Given the description of an element on the screen output the (x, y) to click on. 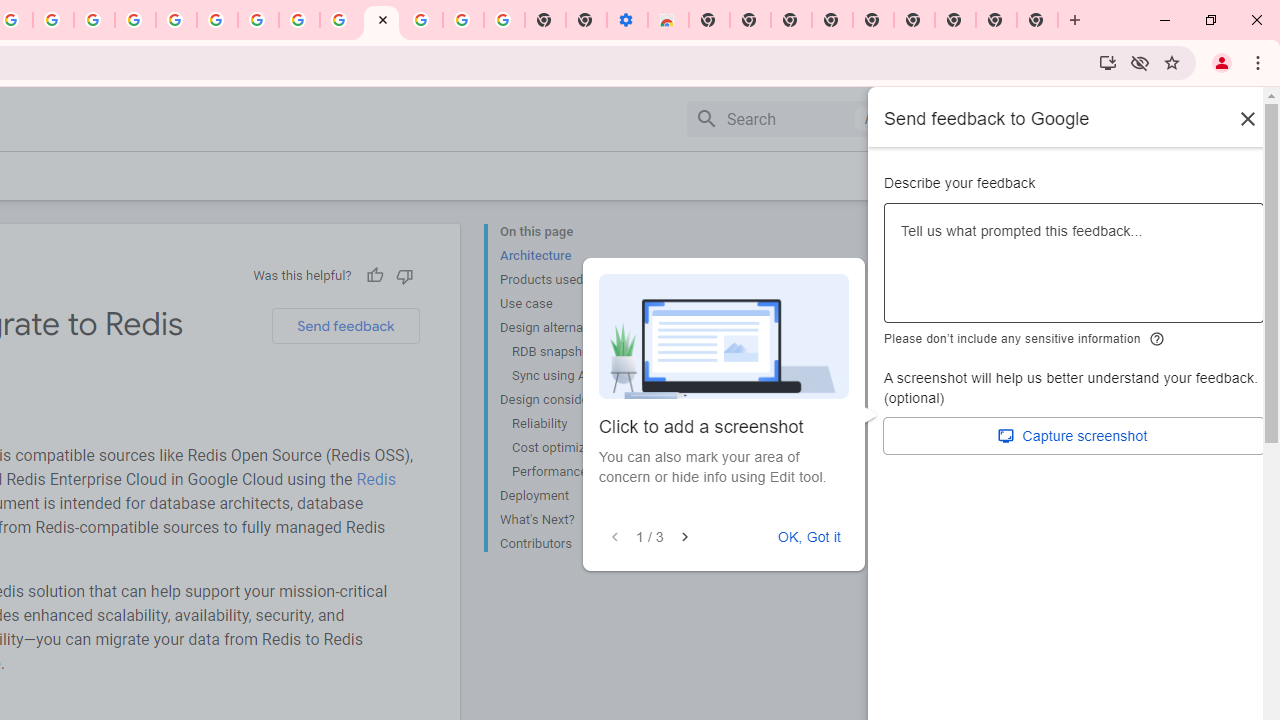
Settings - Accessibility (626, 20)
Contact Us (1050, 175)
New Tab (1037, 20)
Sync using Active-Passive (585, 376)
Install Google Cloud (1107, 62)
Browse the Google Chrome Community - Google Chrome Community (340, 20)
Use case (580, 304)
RDB snapshots (585, 351)
Create your Google Account (53, 20)
